Given the description of an element on the screen output the (x, y) to click on. 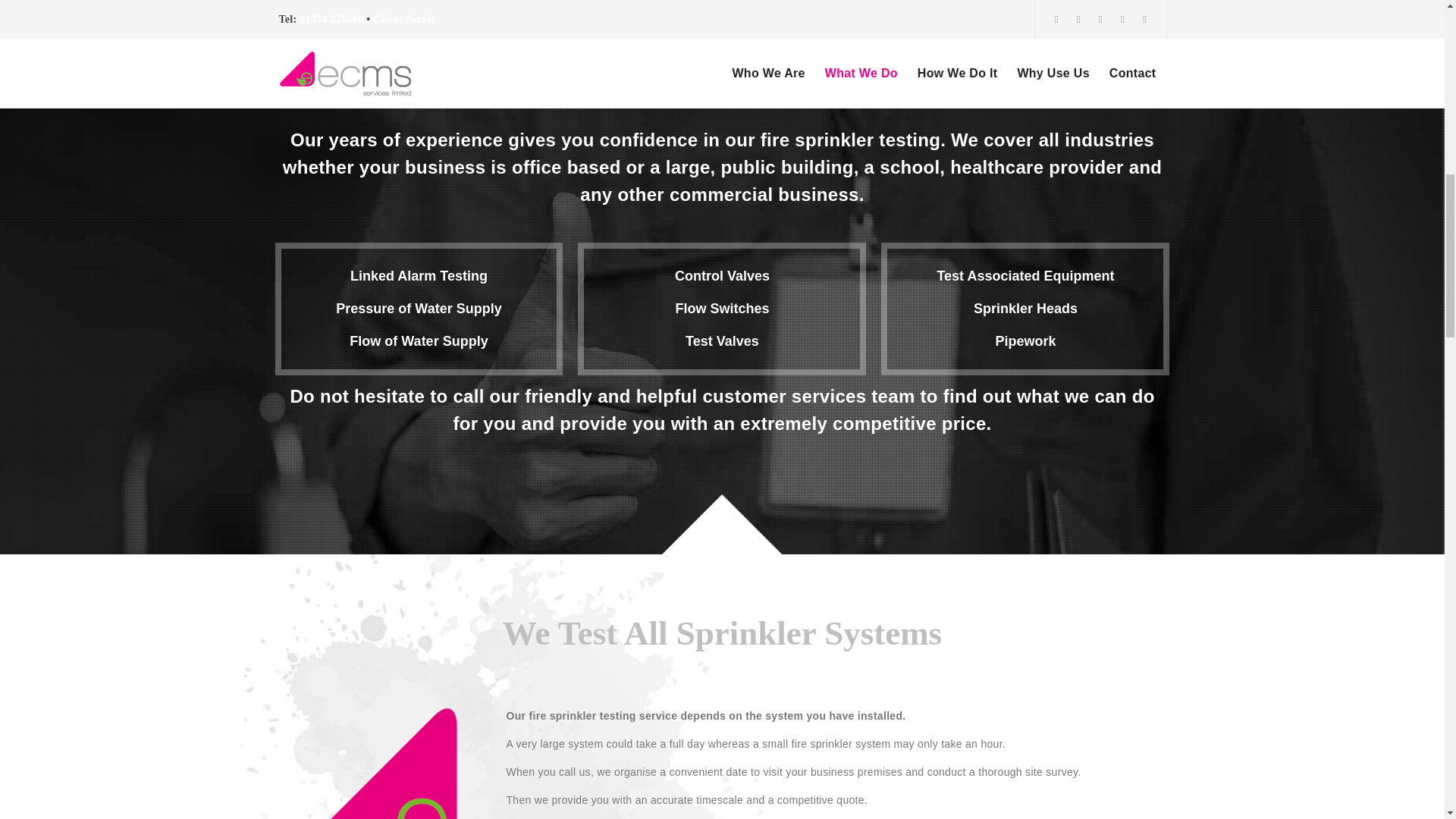
ECMS Icon (380, 763)
Arrow Up White (722, 524)
